Given the description of an element on the screen output the (x, y) to click on. 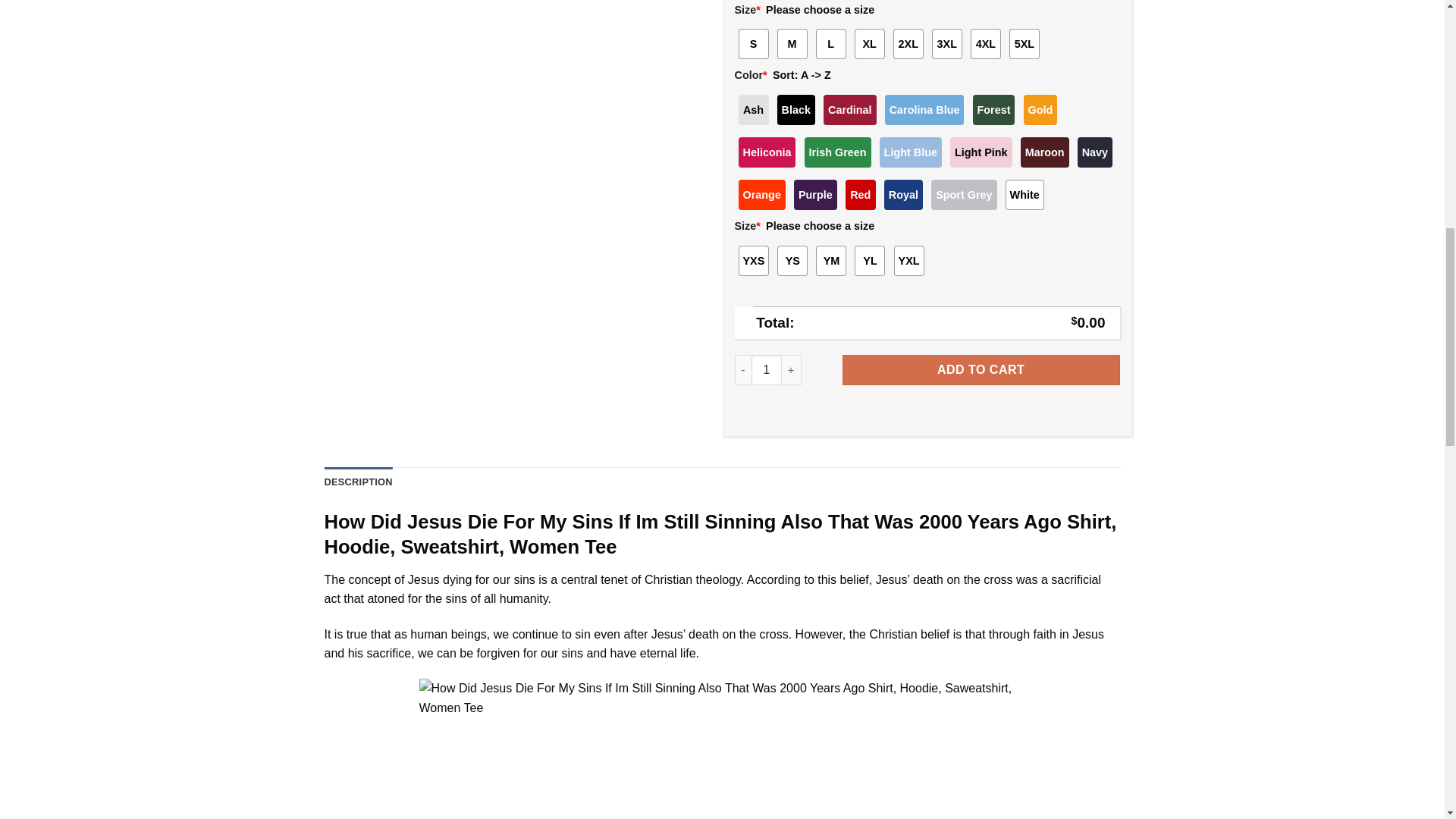
ADD TO CART (981, 369)
1 (766, 369)
DESCRIPTION (358, 481)
